Given the description of an element on the screen output the (x, y) to click on. 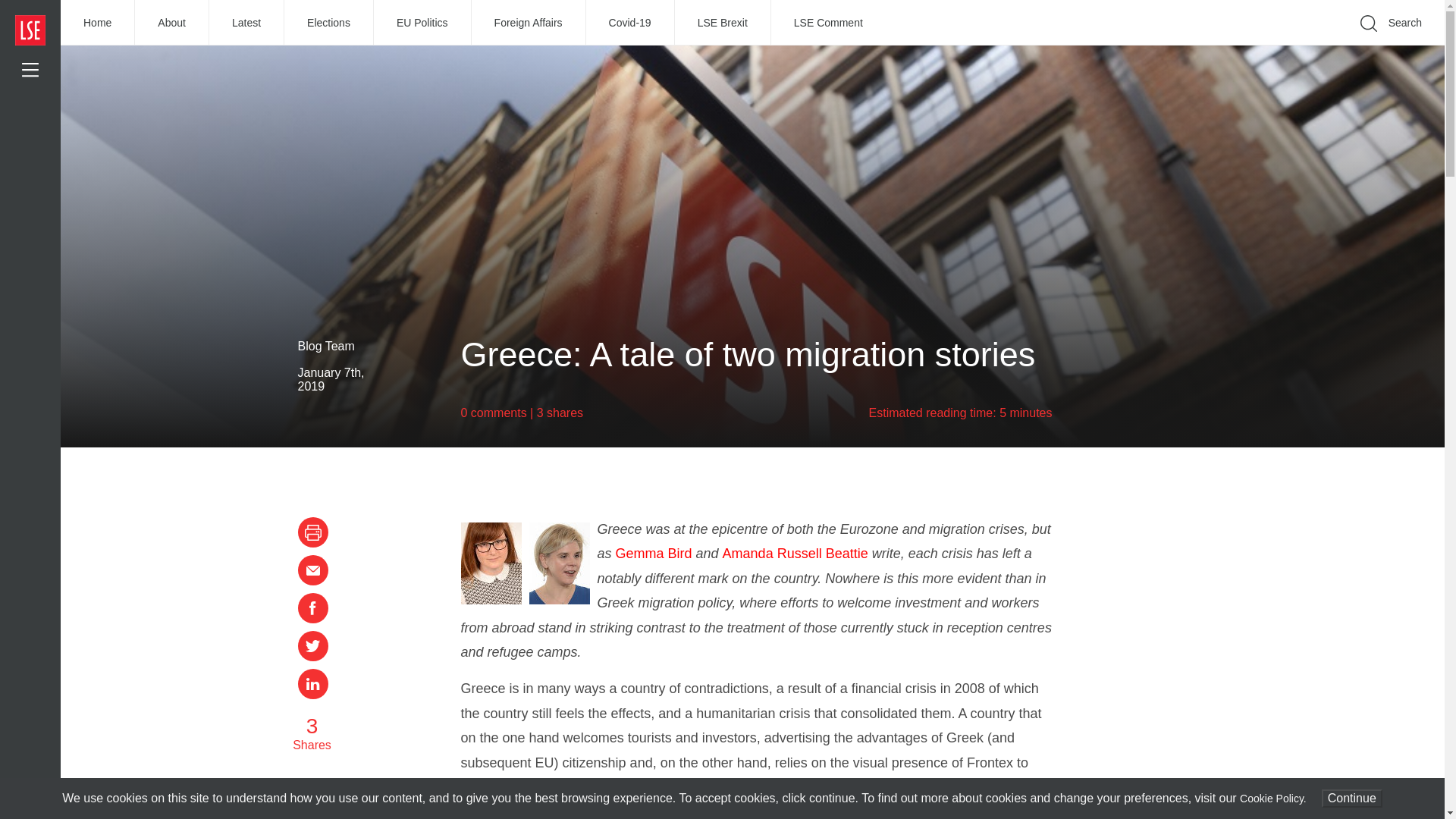
EU Politics (422, 22)
0 comments (494, 412)
Elections (328, 22)
Gemma Bird (655, 553)
LSE Brexit (723, 22)
Foreign Affairs (528, 22)
Go (1190, 44)
LSE Comment (828, 22)
About (172, 22)
Covid-19 (630, 22)
Latest (246, 22)
Home (98, 22)
Amanda Russell Beattie (797, 553)
